Given the description of an element on the screen output the (x, y) to click on. 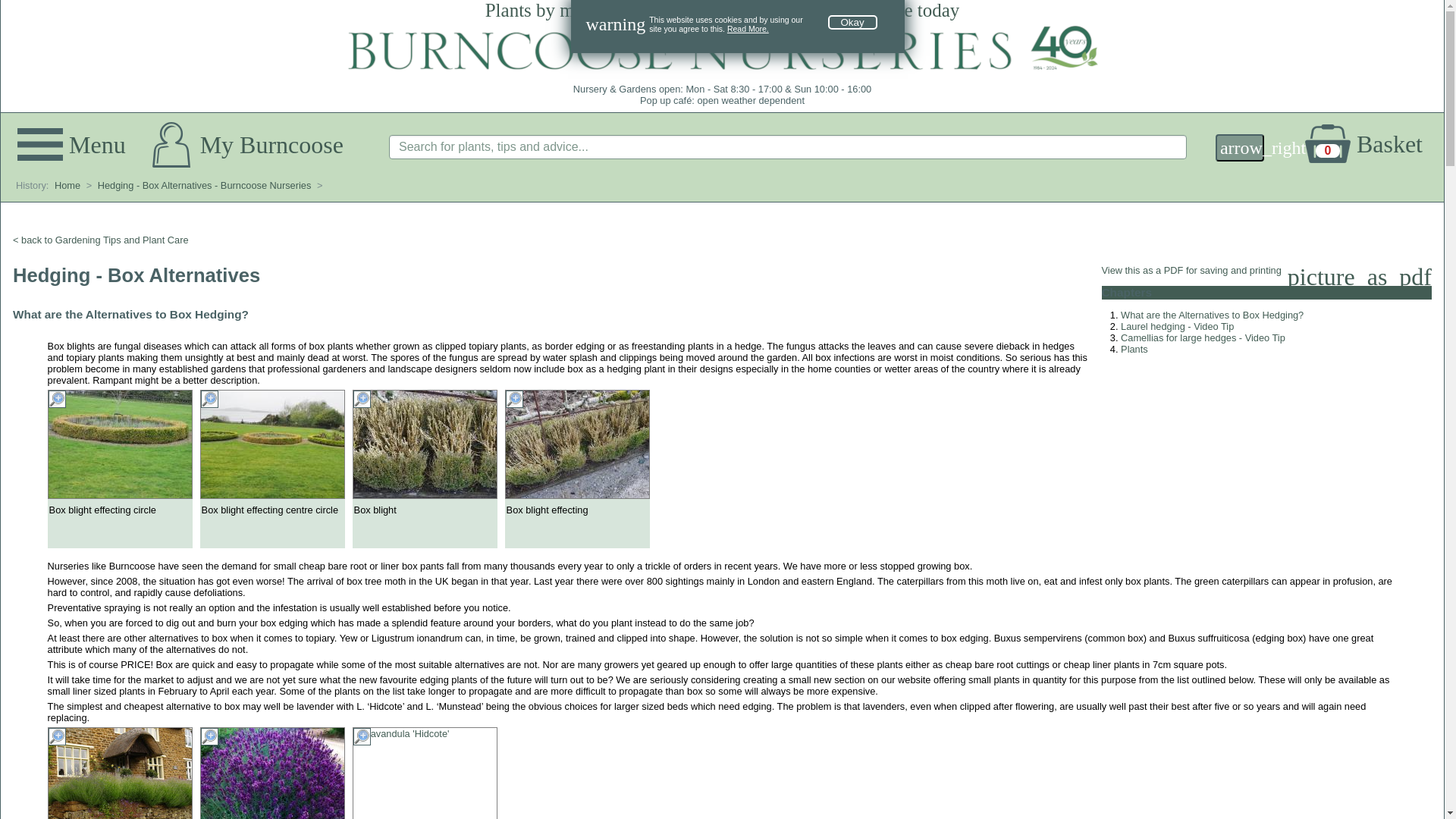
Okay (852, 22)
My Burncoose (248, 144)
Read More. (747, 28)
Main Menu (1373, 144)
Your basket is empty (74, 147)
Burncoose Nurseries - part of the Caerhays Estate (1373, 144)
